Given the description of an element on the screen output the (x, y) to click on. 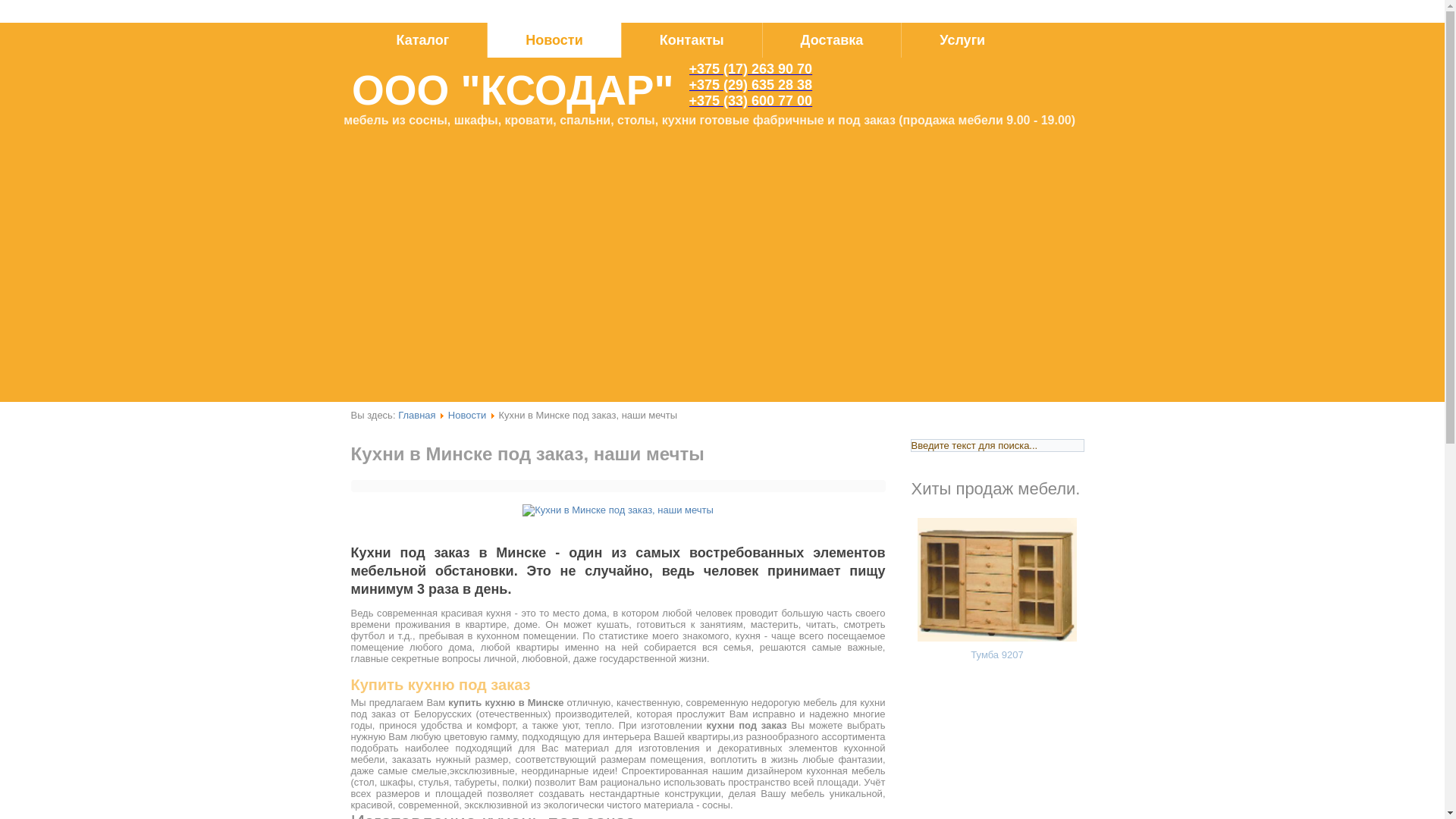
+375 (29) 635 28 38 Element type: text (750, 84)
+375 (17) 263 90 70 Element type: text (750, 68)
+375 (33) 600 77 00 Element type: text (750, 100)
